Given the description of an element on the screen output the (x, y) to click on. 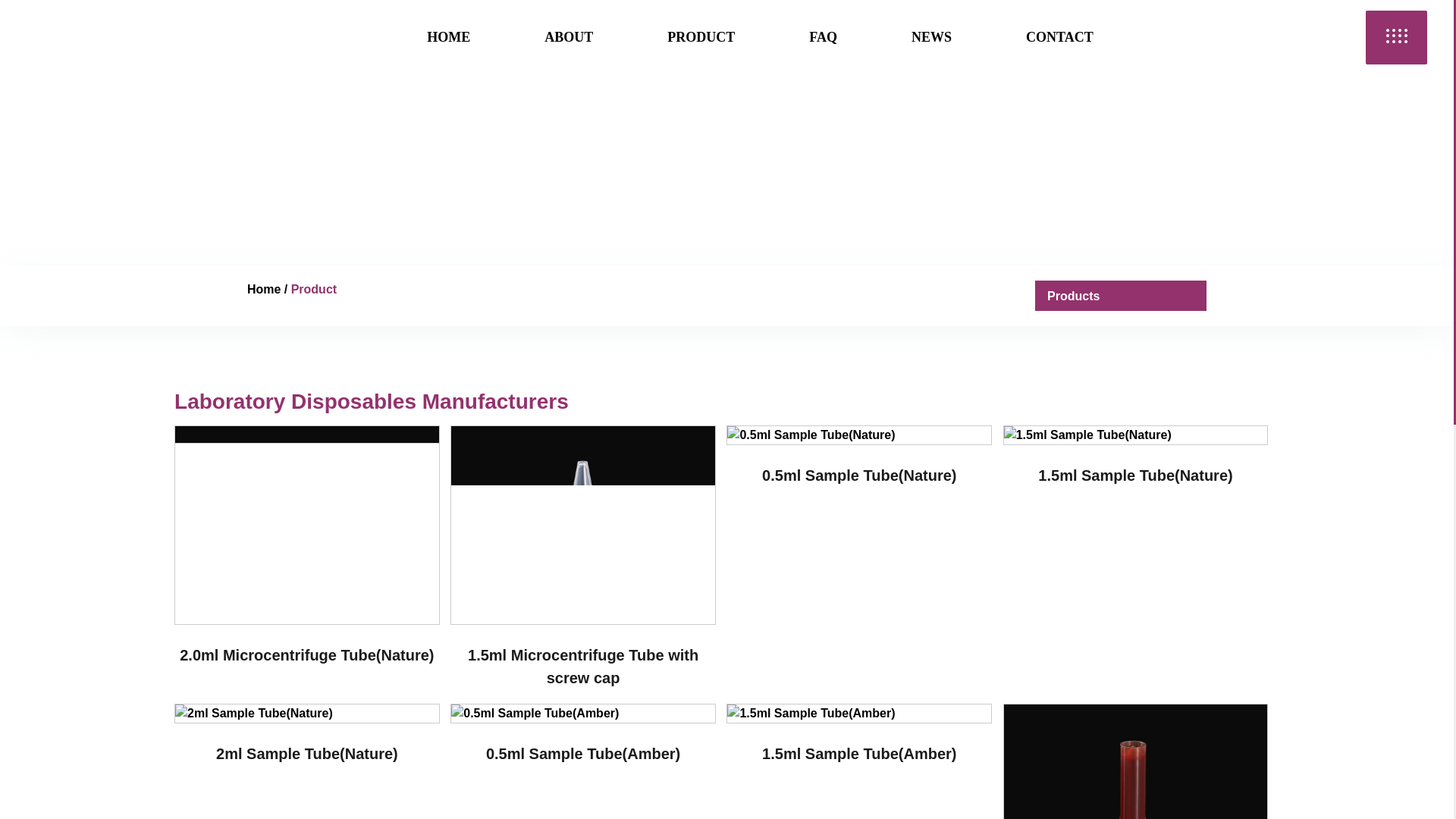
PRODUCT (700, 36)
HOME (448, 36)
ABOUT (568, 36)
